Given the description of an element on the screen output the (x, y) to click on. 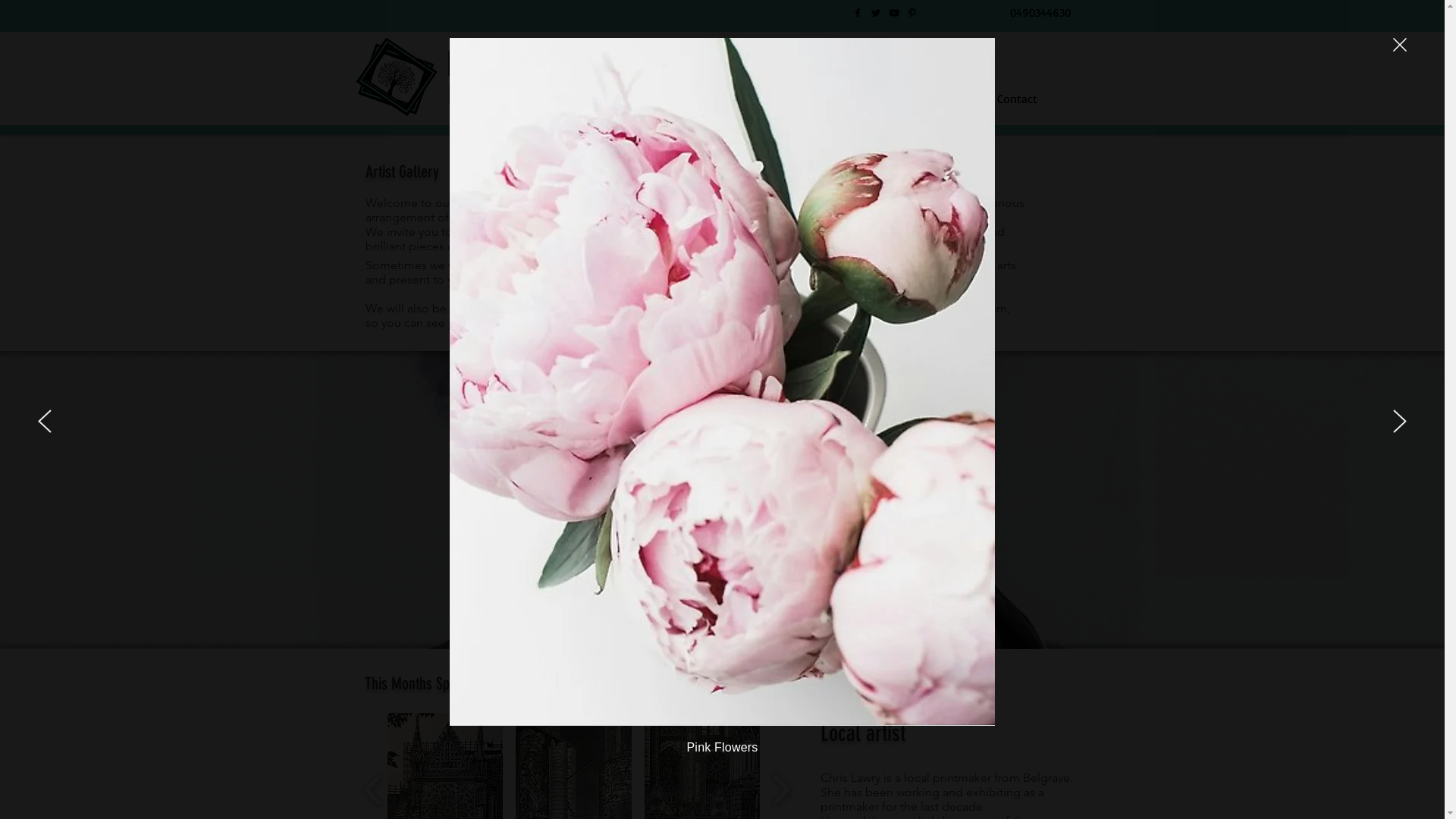
Contact Element type: text (1036, 97)
Home Element type: text (703, 97)
Artist Gallery Element type: text (920, 97)
Site Search Element type: hover (1077, 60)
Services Element type: text (803, 97)
Belgrave Picture Framing Element type: hover (499, 76)
